Given the description of an element on the screen output the (x, y) to click on. 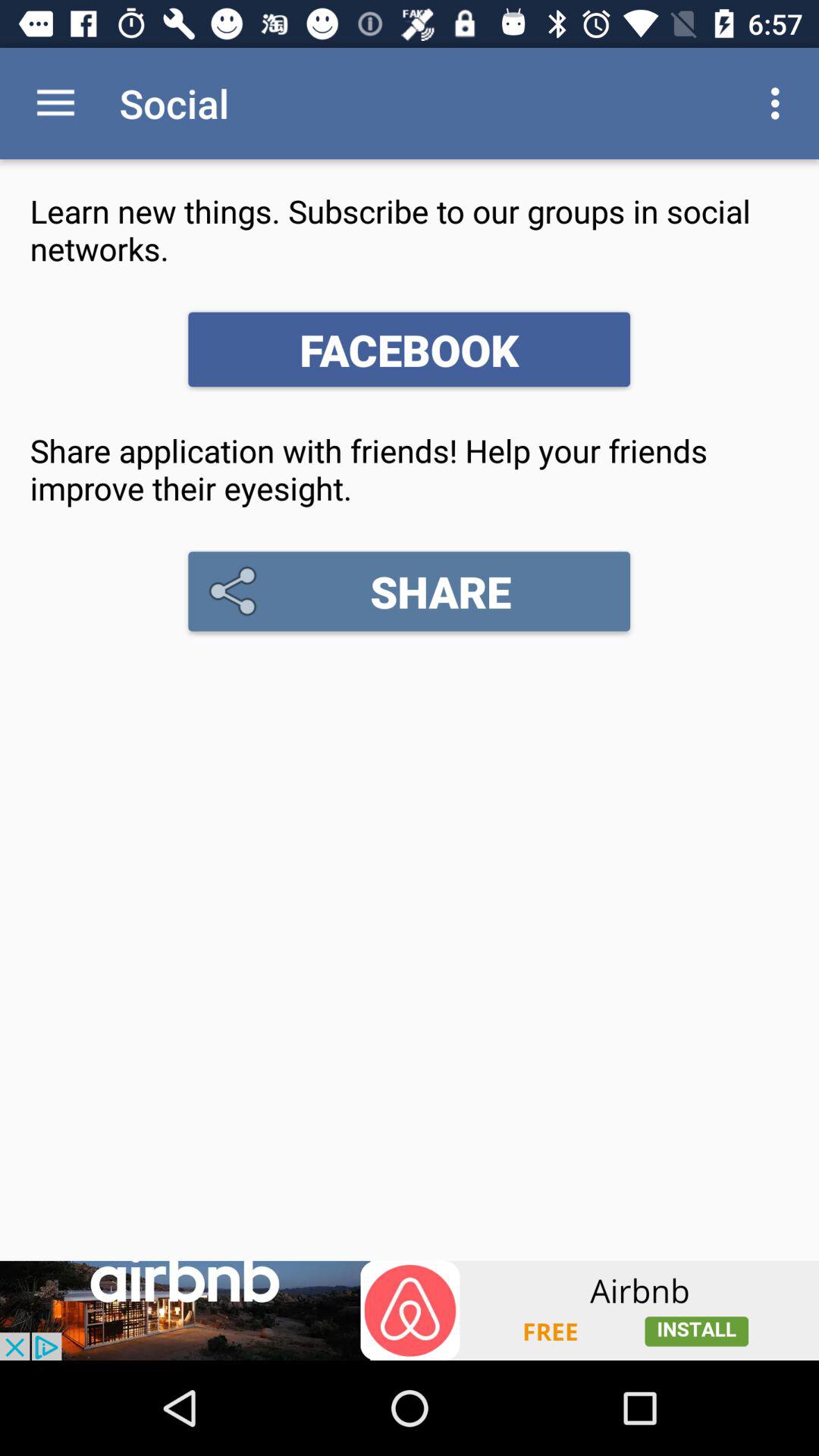
click advertisement (409, 1310)
